Given the description of an element on the screen output the (x, y) to click on. 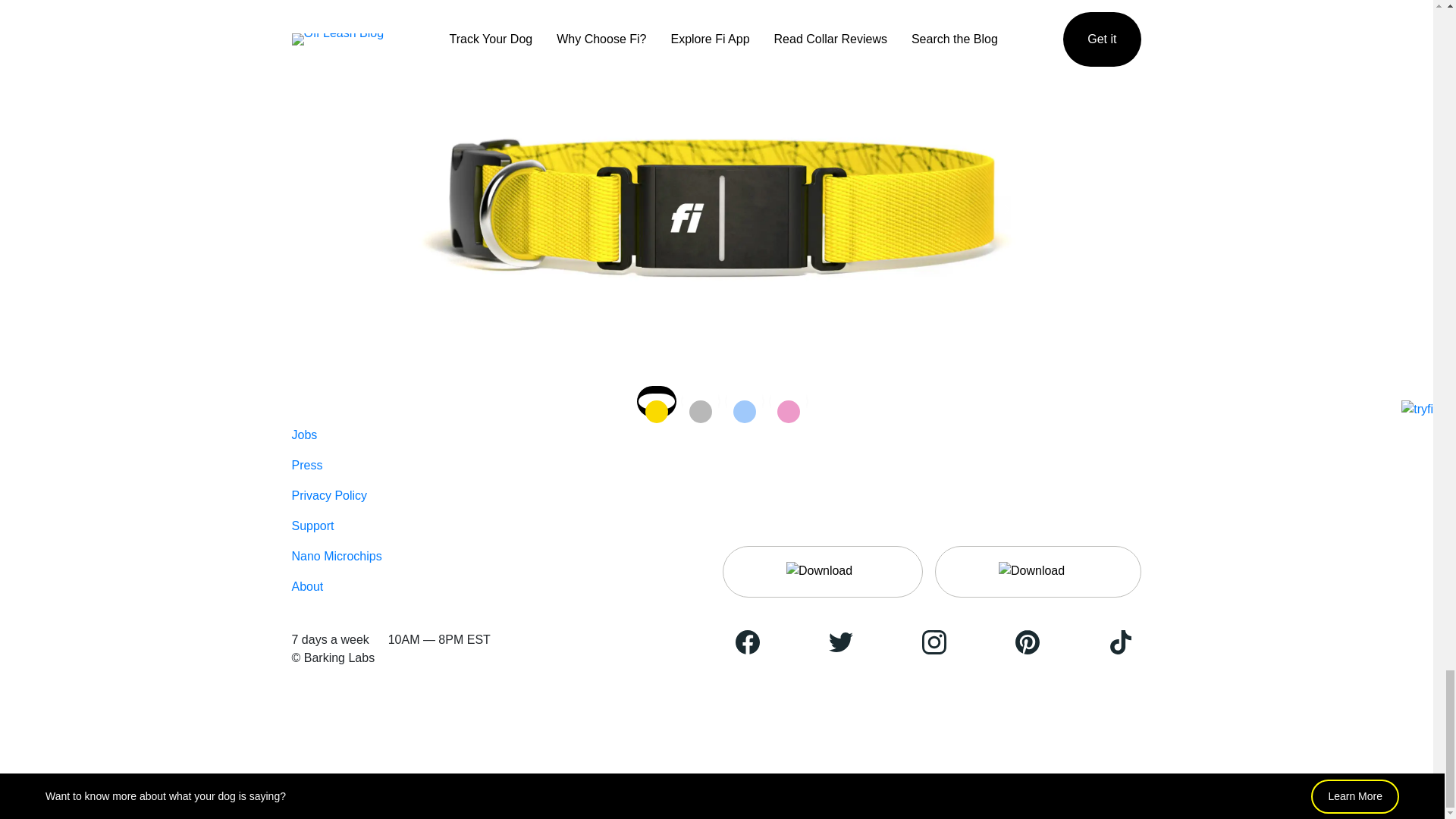
Press (306, 464)
Jobs (304, 434)
Privacy Policy (328, 495)
Support (312, 525)
Nano Microchips (336, 555)
About (307, 585)
